Given the description of an element on the screen output the (x, y) to click on. 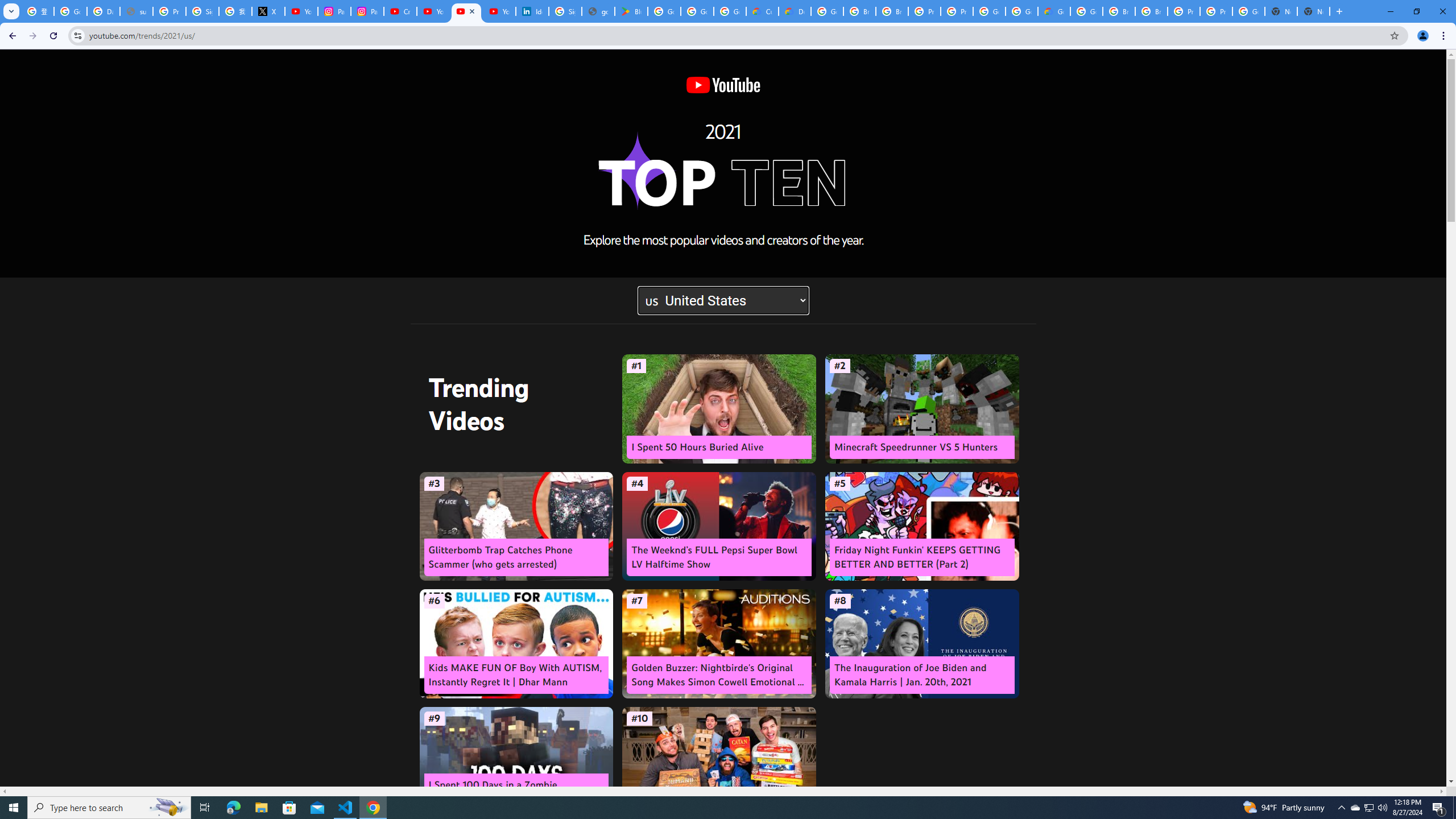
#2 Minecraft Speedrunner VS 5 Hunters (921, 408)
YouTube Content Monetization Policies - How YouTube Works (301, 11)
Google Cloud Platform (1021, 11)
X (268, 11)
